Given the description of an element on the screen output the (x, y) to click on. 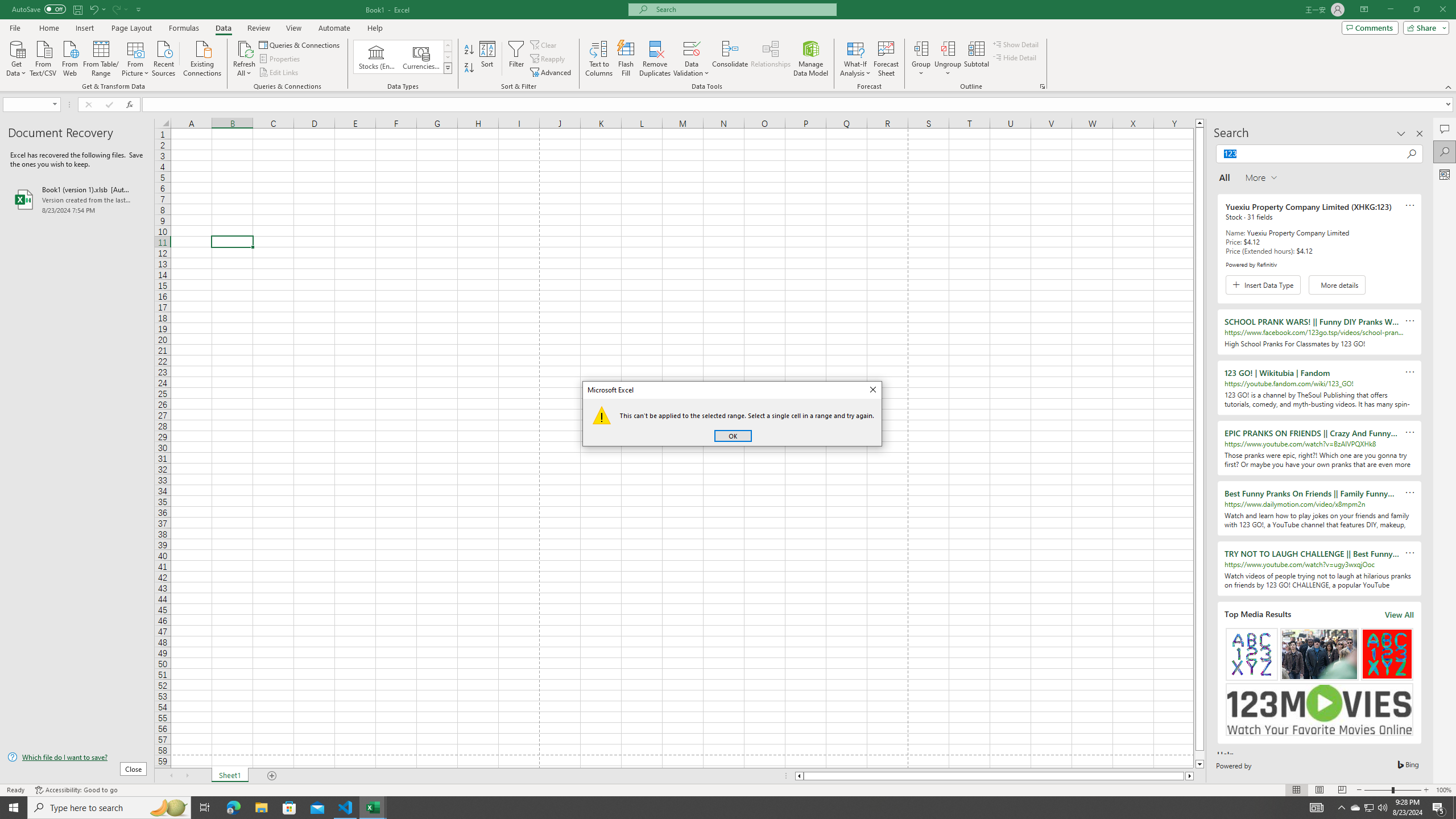
Reapply (548, 58)
Properties (280, 58)
OK (732, 435)
Recent Sources (163, 57)
From Picture (135, 57)
Microsoft Edge (233, 807)
AutomationID: 4105 (1316, 807)
Hide Detail (1014, 56)
